Given the description of an element on the screen output the (x, y) to click on. 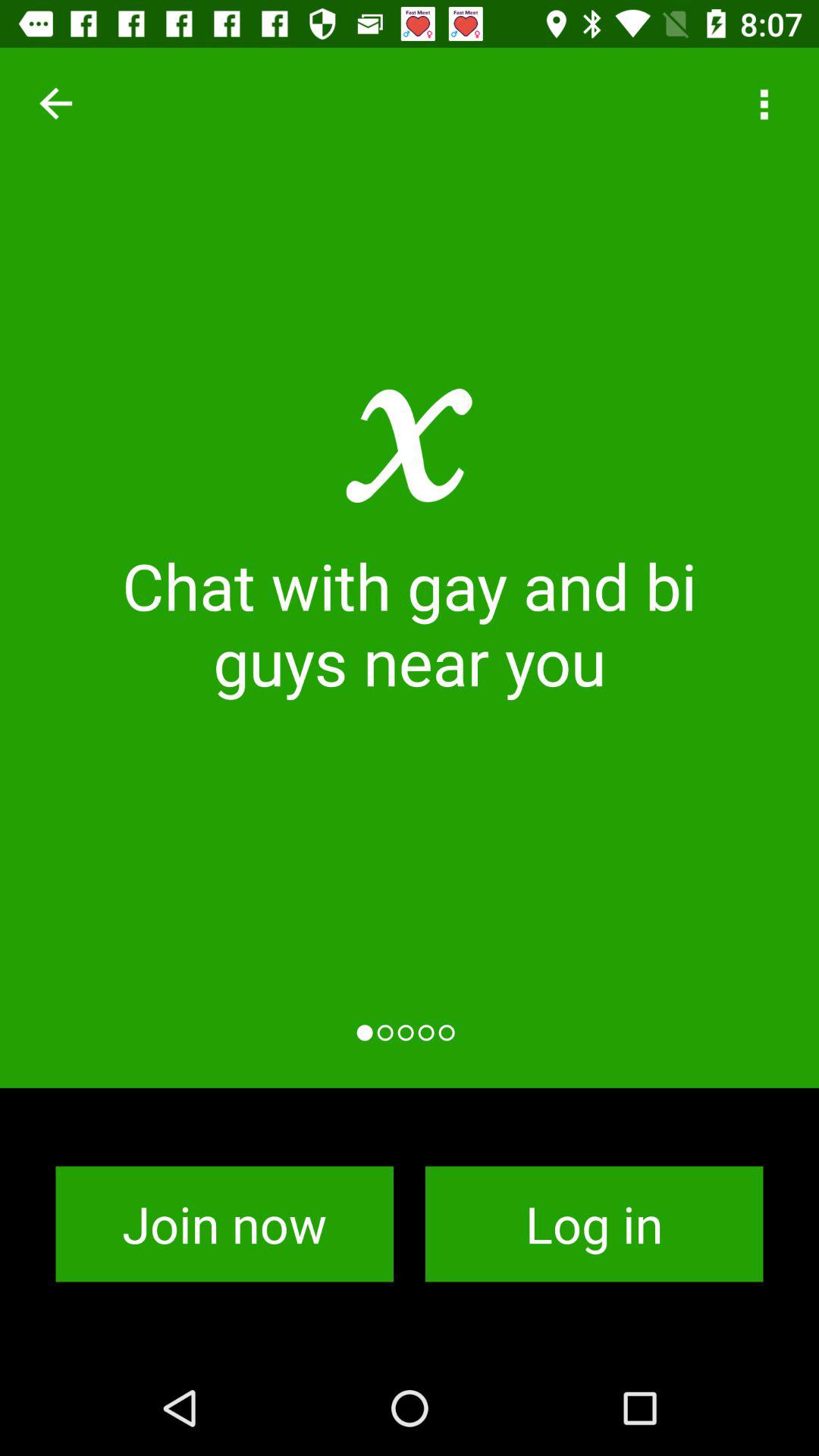
click icon to the left of log in (224, 1223)
